Given the description of an element on the screen output the (x, y) to click on. 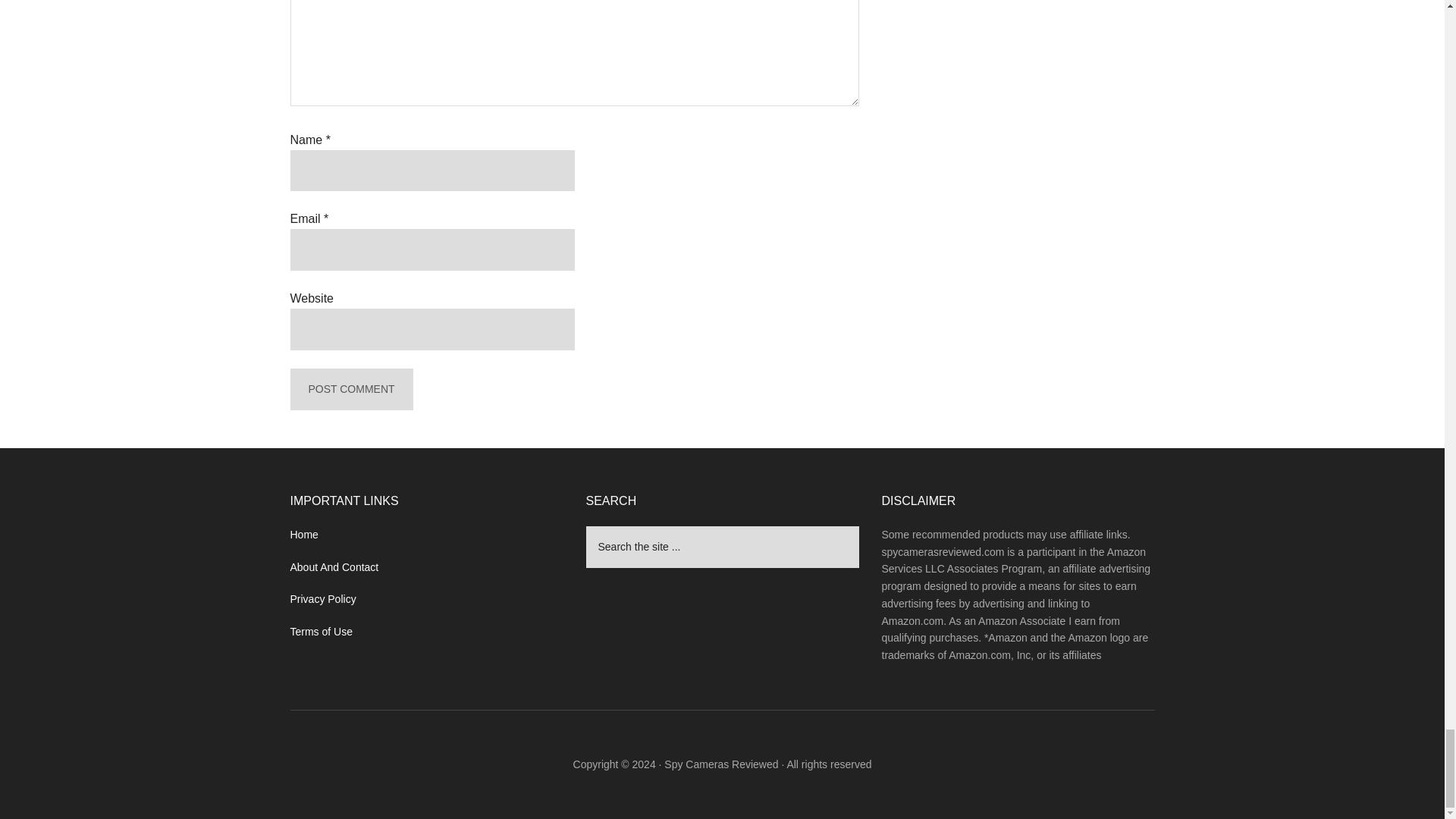
Post Comment (350, 389)
